Given the description of an element on the screen output the (x, y) to click on. 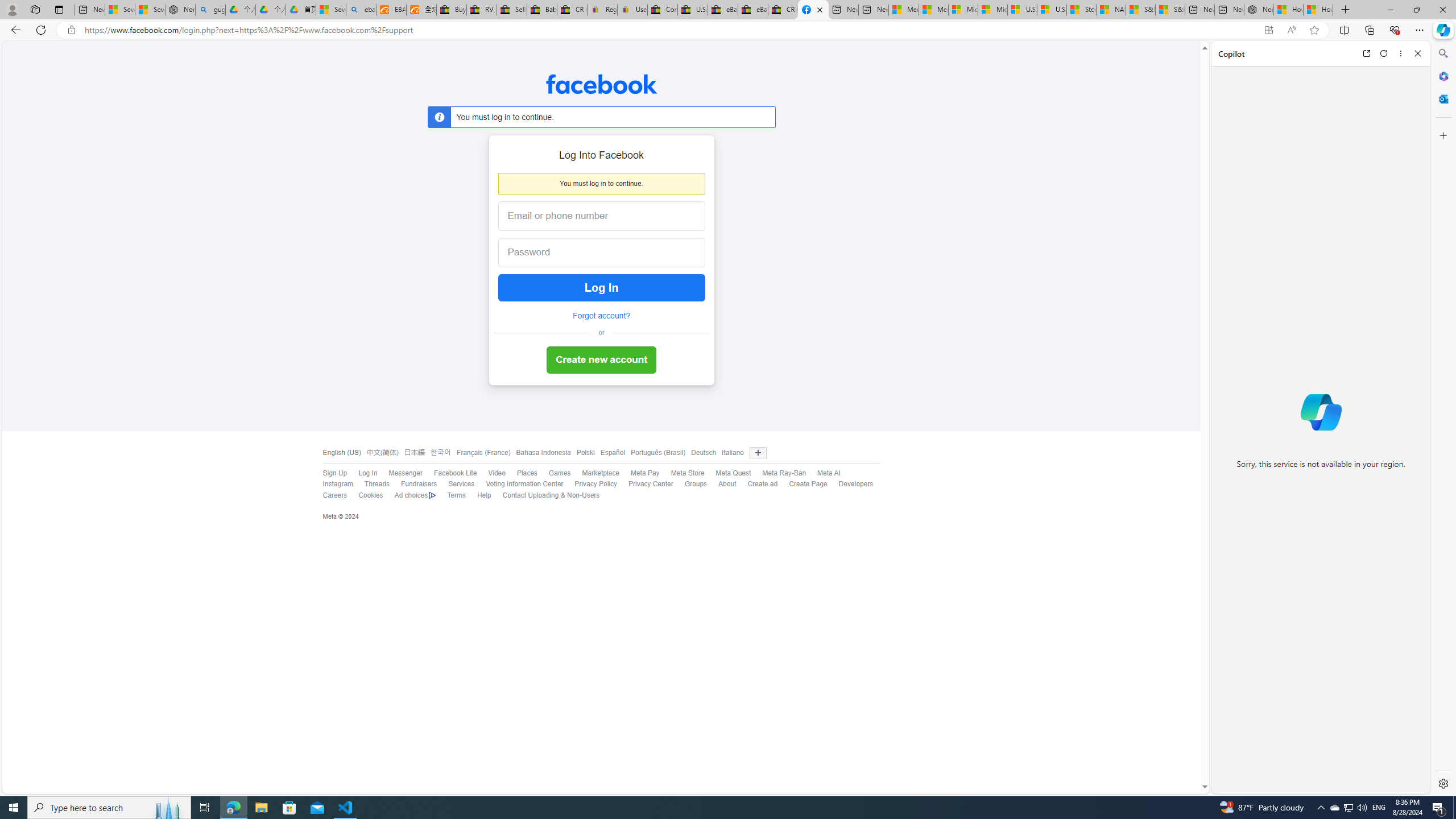
Sign Up (334, 473)
Customize (1442, 135)
Polski (582, 452)
Facebook (600, 84)
Deutsch (703, 452)
Services (455, 484)
Outlook (1442, 98)
Ad choices (409, 495)
Meta Ray-Ban (778, 473)
